Given the description of an element on the screen output the (x, y) to click on. 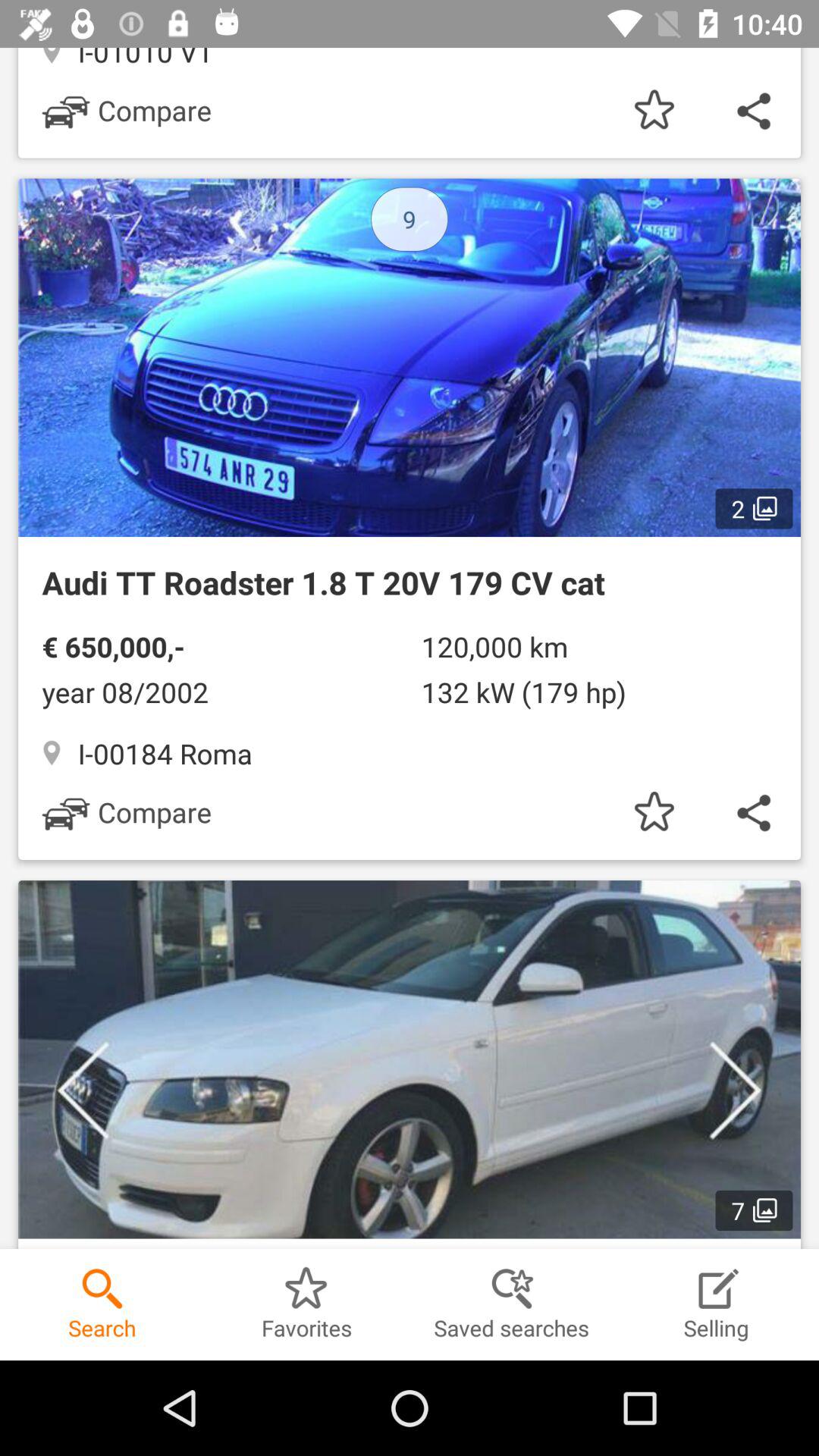
click on the 1st image from the top below compare (409, 358)
